Given the description of an element on the screen output the (x, y) to click on. 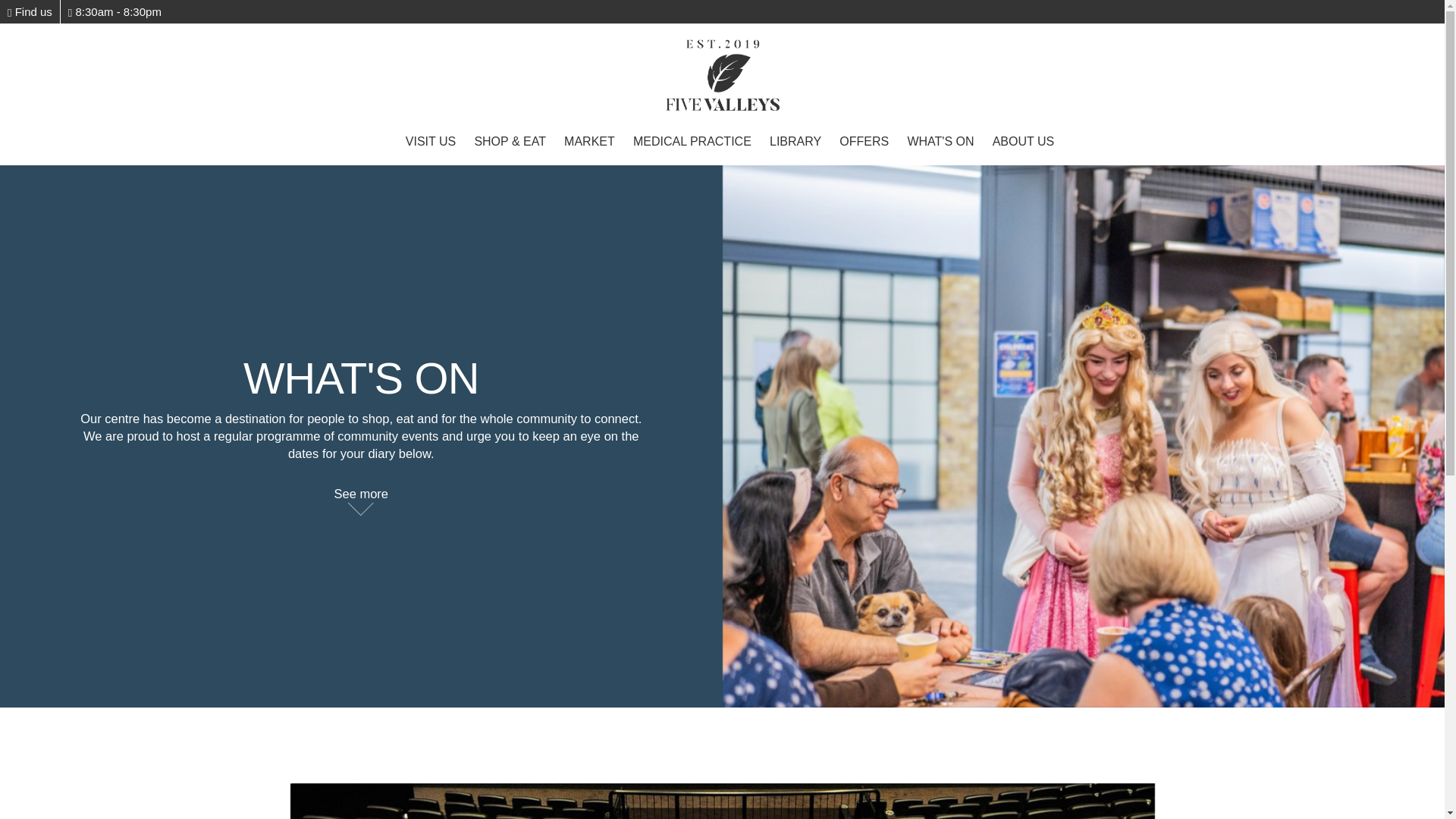
See more (361, 493)
